Given the description of an element on the screen output the (x, y) to click on. 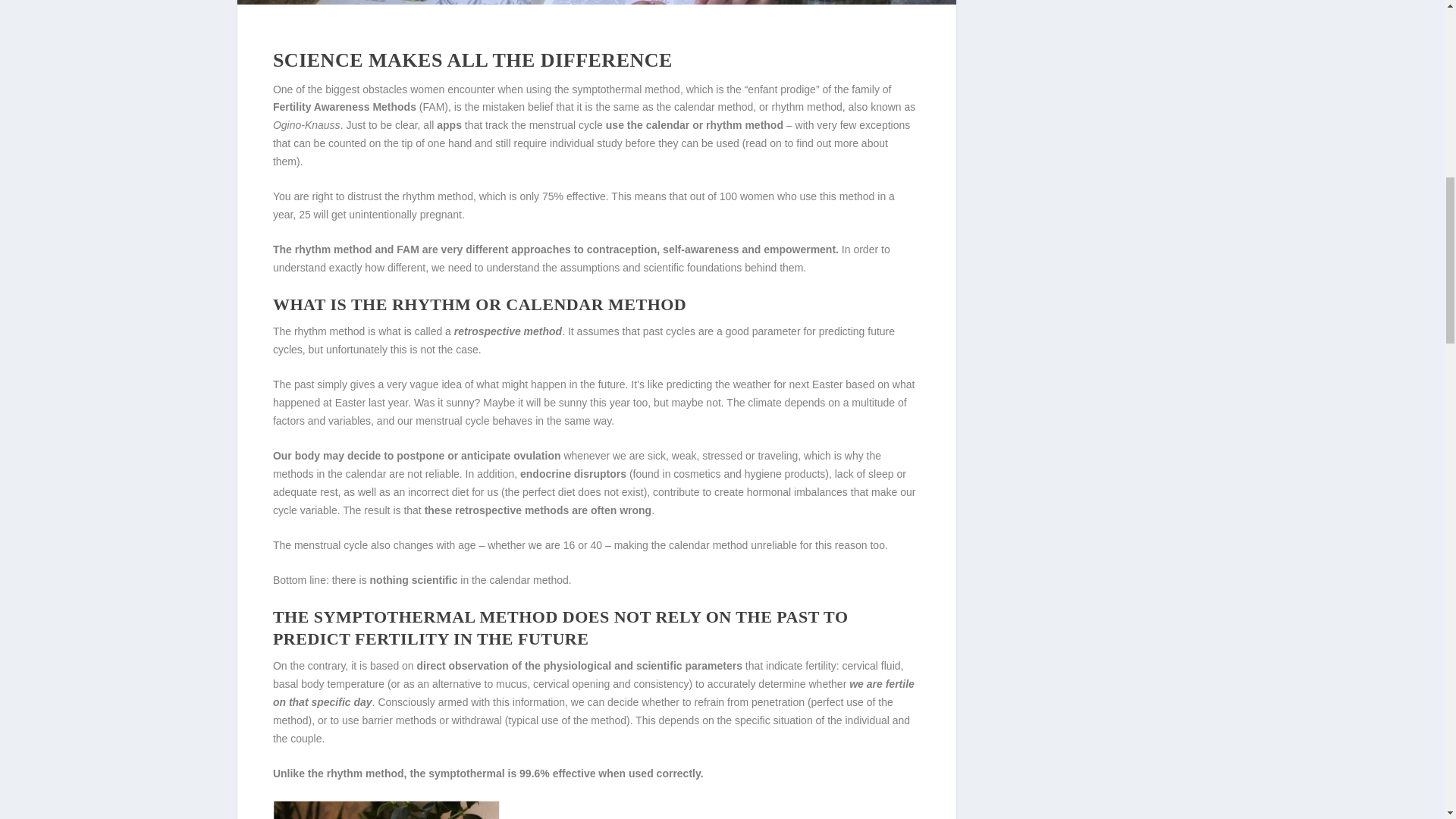
the perfect diet does not exist (574, 491)
cervical fluid (870, 665)
basal body temperature (328, 684)
